Given the description of an element on the screen output the (x, y) to click on. 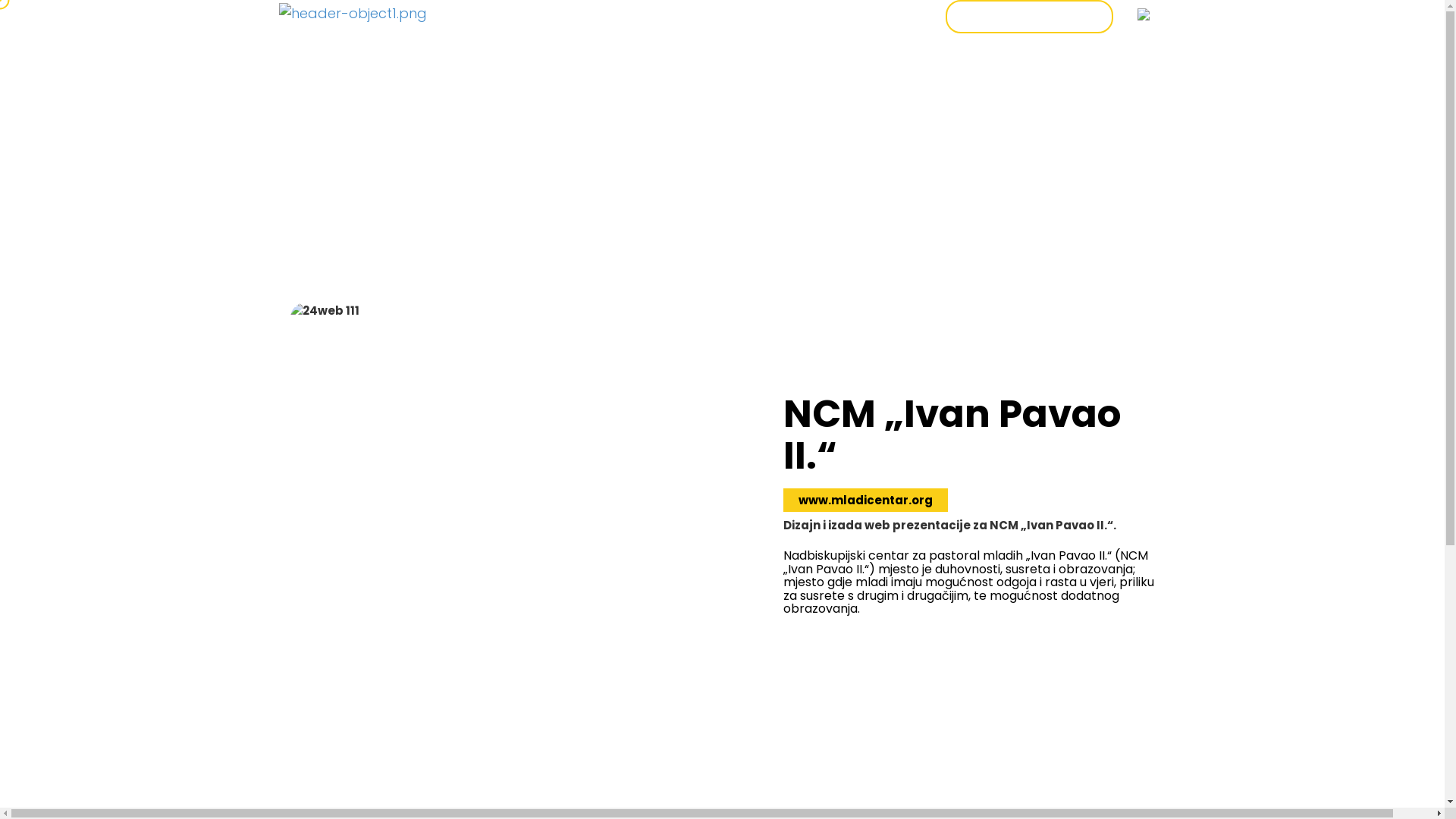
USLUGE Element type: text (746, 15)
BESPLATAN PRIJEDLOG Element type: text (1028, 16)
KLIJENTI Element type: text (819, 15)
www.mladicentar.org Element type: text (864, 499)
KONTAKT Element type: text (895, 15)
